Given the description of an element on the screen output the (x, y) to click on. 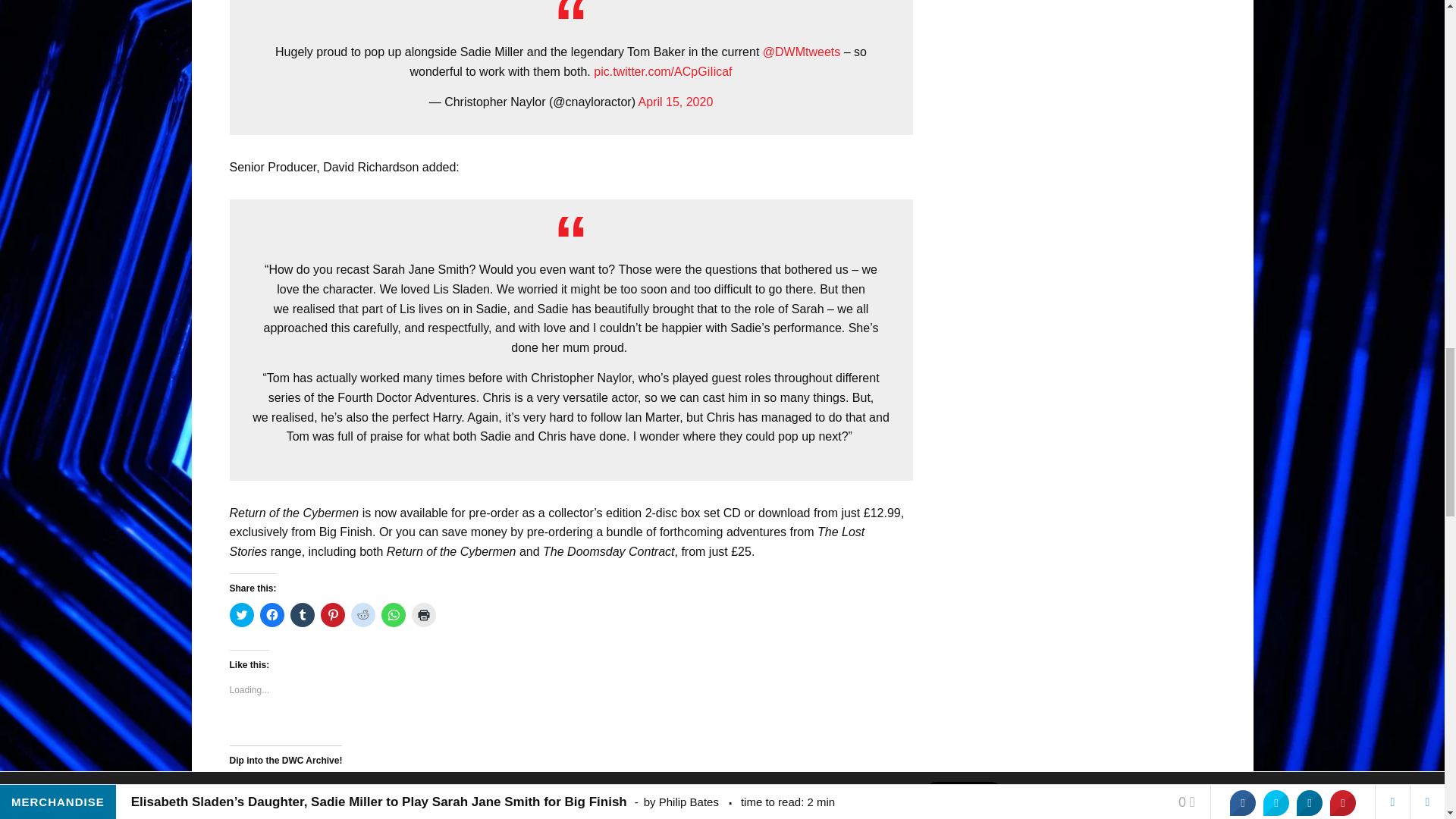
Click to print (422, 614)
Click to share on WhatsApp (392, 614)
Click to share on Facebook (271, 614)
Click to share on Twitter (240, 614)
Click to share on Tumblr (301, 614)
Click to share on Reddit (362, 614)
Click to share on Pinterest (331, 614)
